Given the description of an element on the screen output the (x, y) to click on. 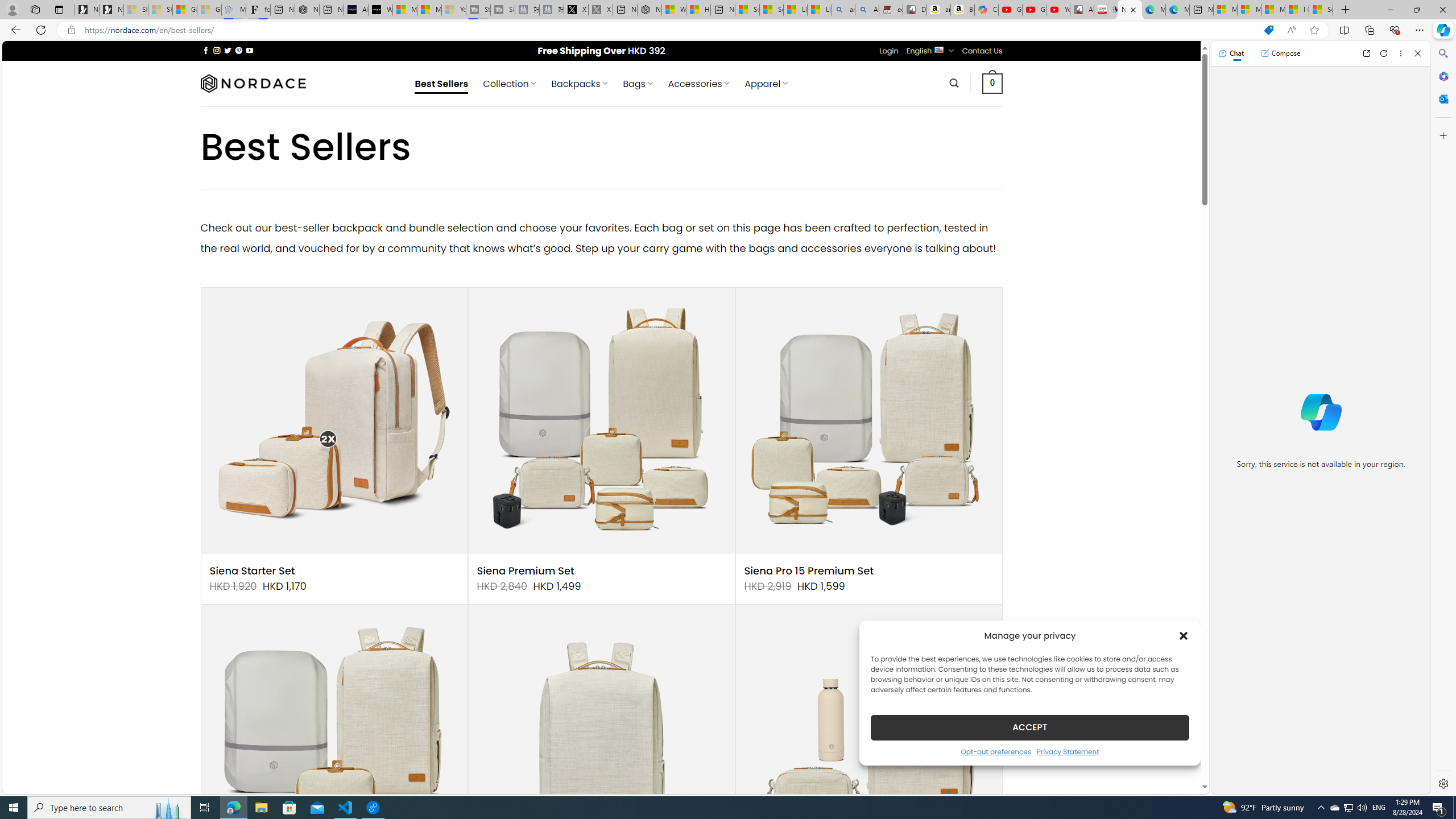
Compose (1280, 52)
  Best Sellers (441, 83)
amazon.in/dp/B0CX59H5W7/?tag=gsmcom05-21 (938, 9)
Nordace - My Account (648, 9)
